Given the description of an element on the screen output the (x, y) to click on. 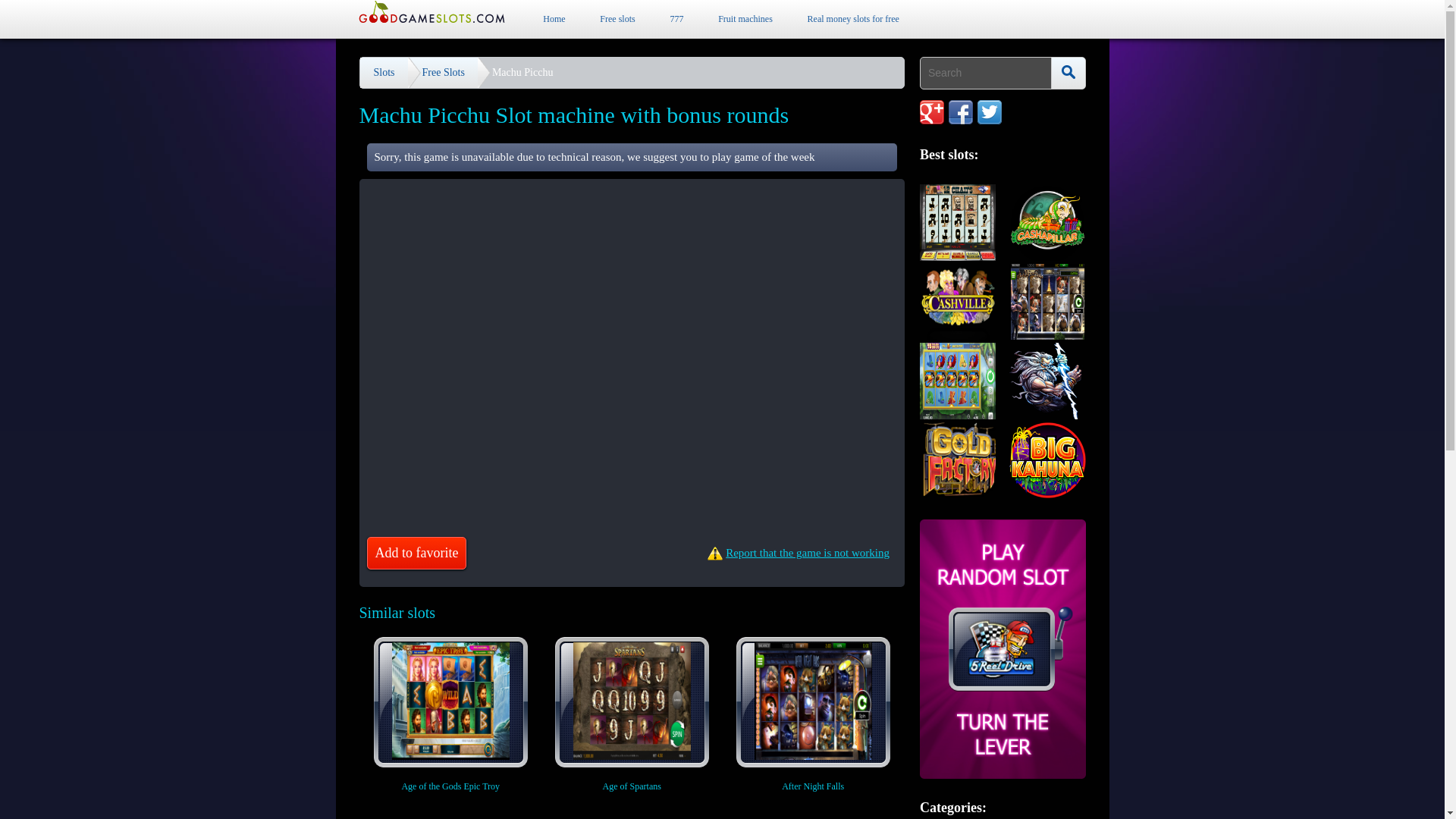
Free slots (616, 19)
Age of the Gods Epic Troy (450, 714)
777 (675, 19)
Slots (383, 72)
Free Slots (444, 72)
After Night Falls (812, 714)
Real money slots for free (853, 19)
Age of Spartans (631, 714)
Report that the game is not working (801, 552)
Add to favorite (416, 553)
Home (553, 19)
Fruit machines (745, 19)
Go to the Free Slots (444, 72)
